Given the description of an element on the screen output the (x, y) to click on. 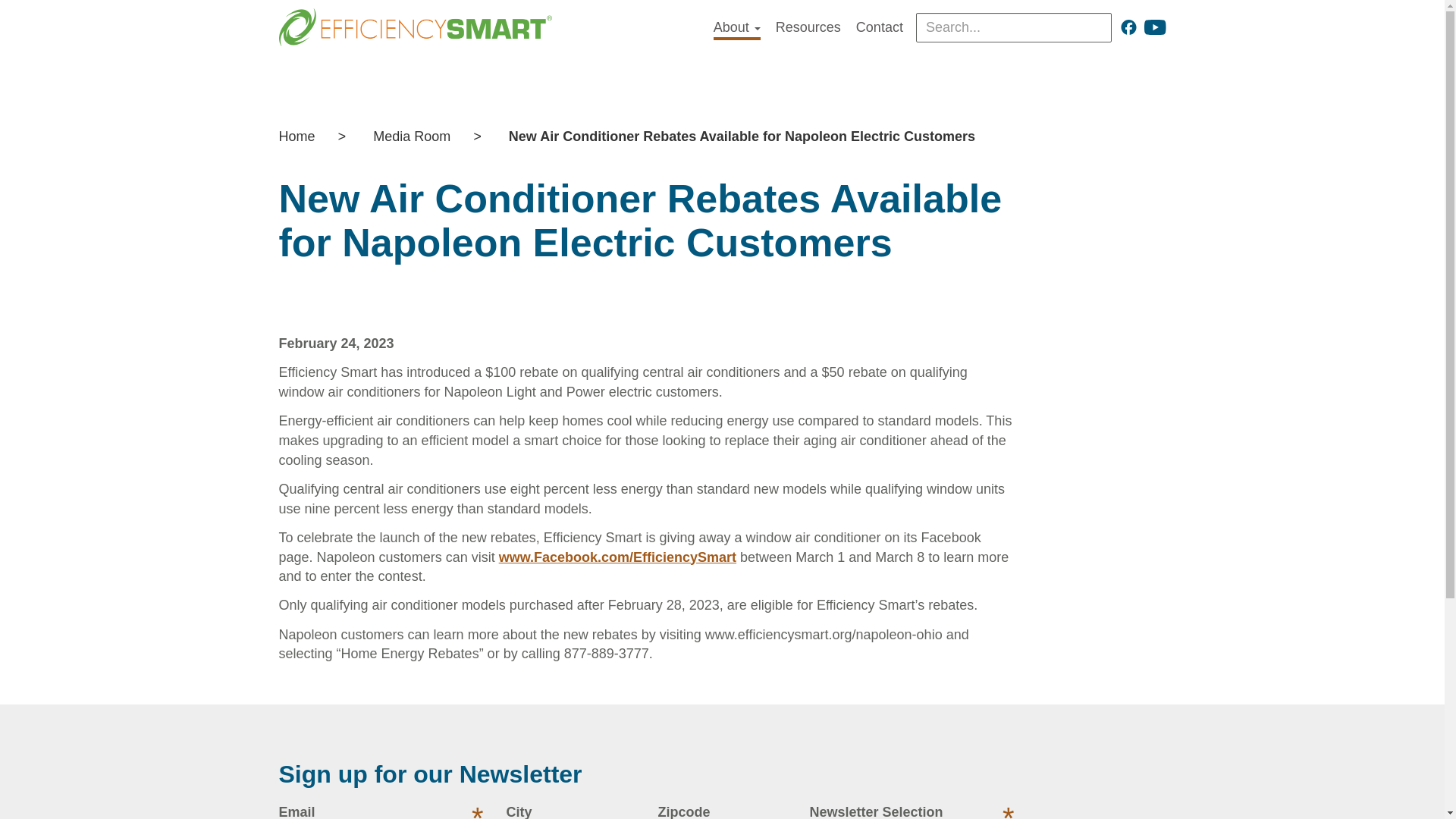
Resources (808, 27)
Home (304, 136)
Media Room (411, 136)
Contact (879, 27)
About (736, 29)
